Given the description of an element on the screen output the (x, y) to click on. 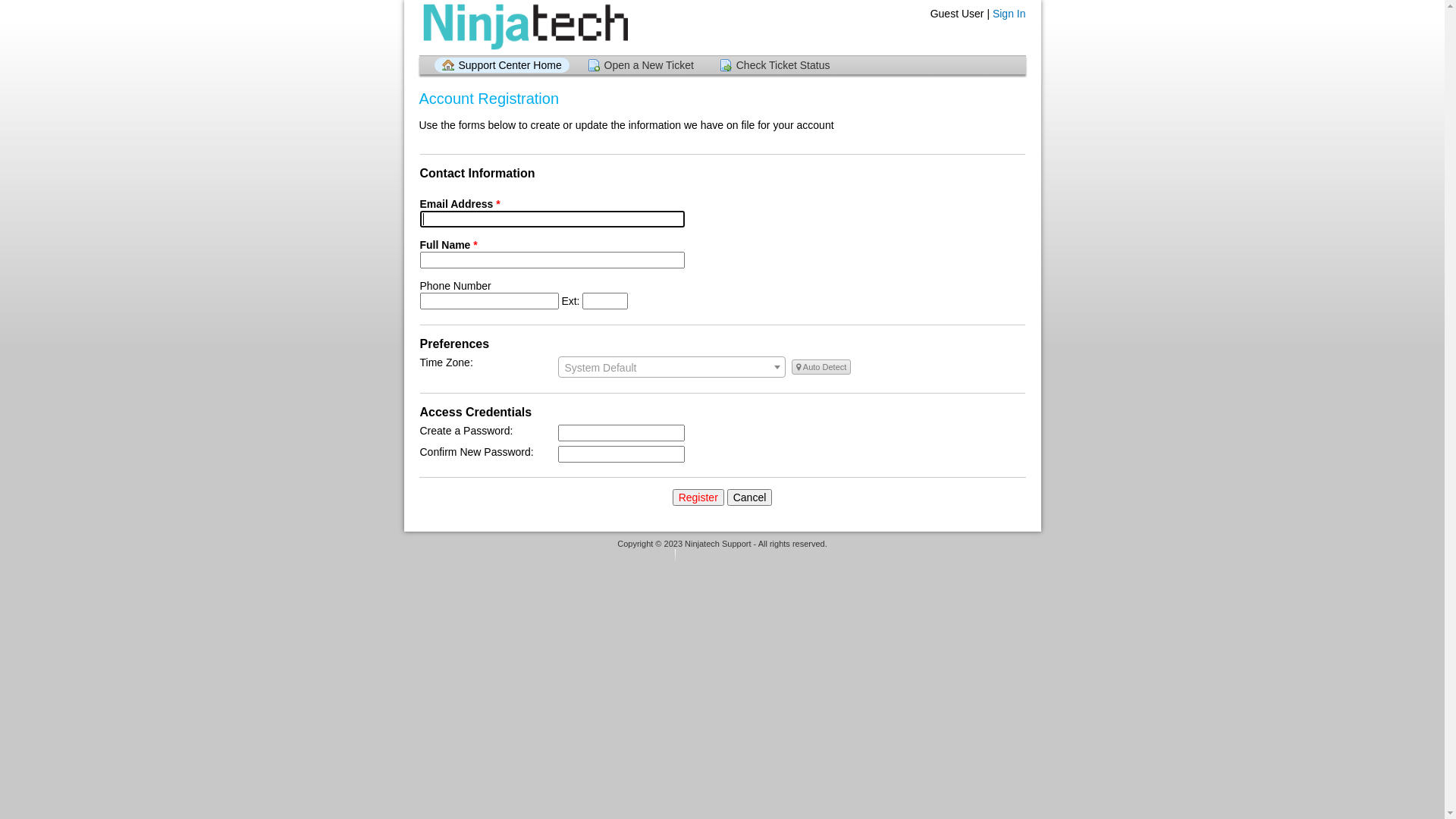
Check Ticket Status Element type: text (774, 64)
Open a New Ticket Element type: text (640, 64)
Sign In Element type: text (1009, 13)
Cancel Element type: text (749, 497)
Helpdesk software - powered by osTicket Element type: text (722, 557)
Support Center Home Element type: text (500, 64)
Register Element type: text (698, 497)
Support Center Element type: hover (522, 26)
Auto Detect Element type: text (820, 366)
